Given the description of an element on the screen output the (x, y) to click on. 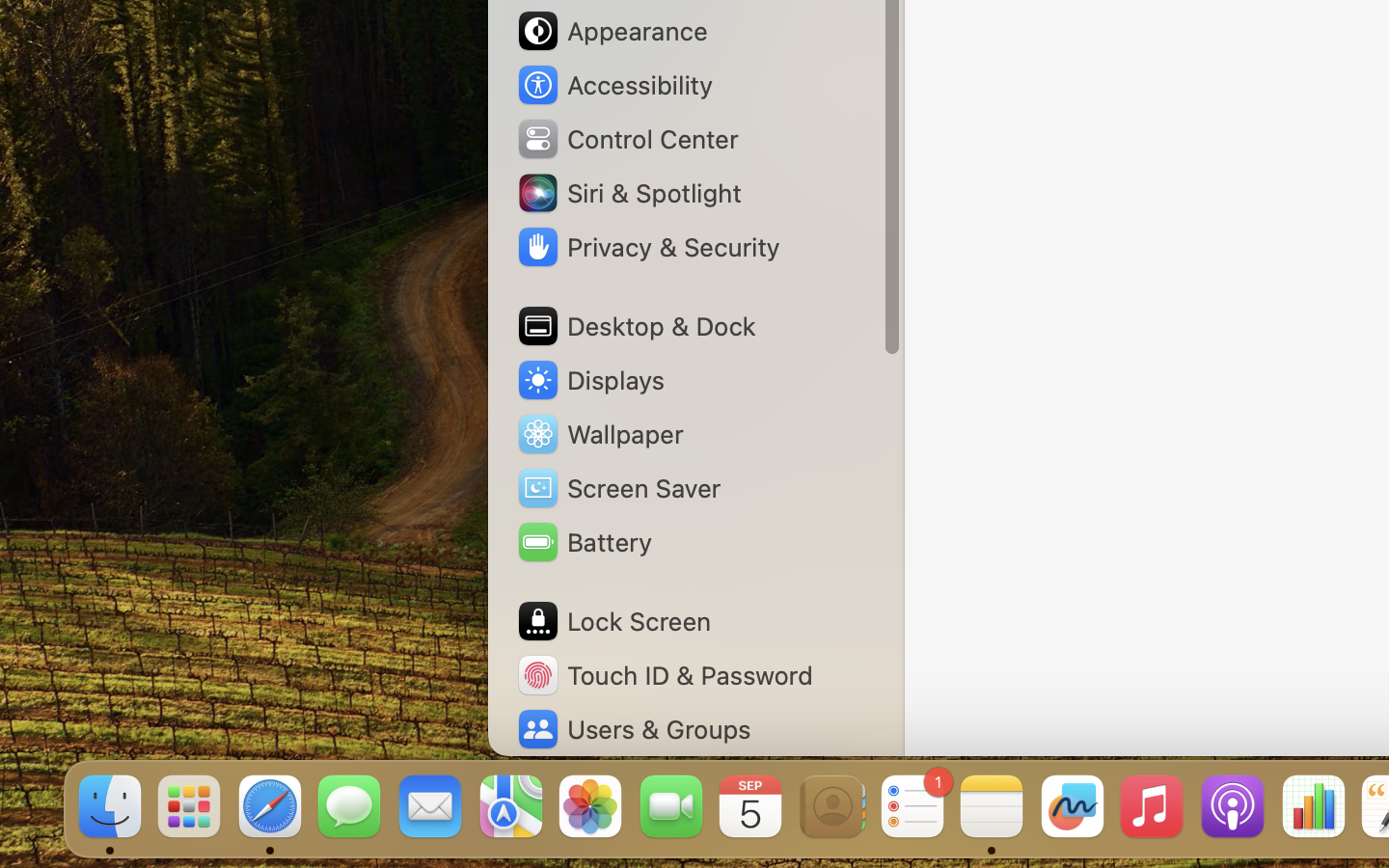
Lock Screen Element type: AXStaticText (613, 620)
Siri & Spotlight Element type: AXStaticText (627, 192)
Control Center Element type: AXStaticText (626, 138)
Appearance Element type: AXStaticText (611, 30)
Accessibility Element type: AXStaticText (614, 84)
